Given the description of an element on the screen output the (x, y) to click on. 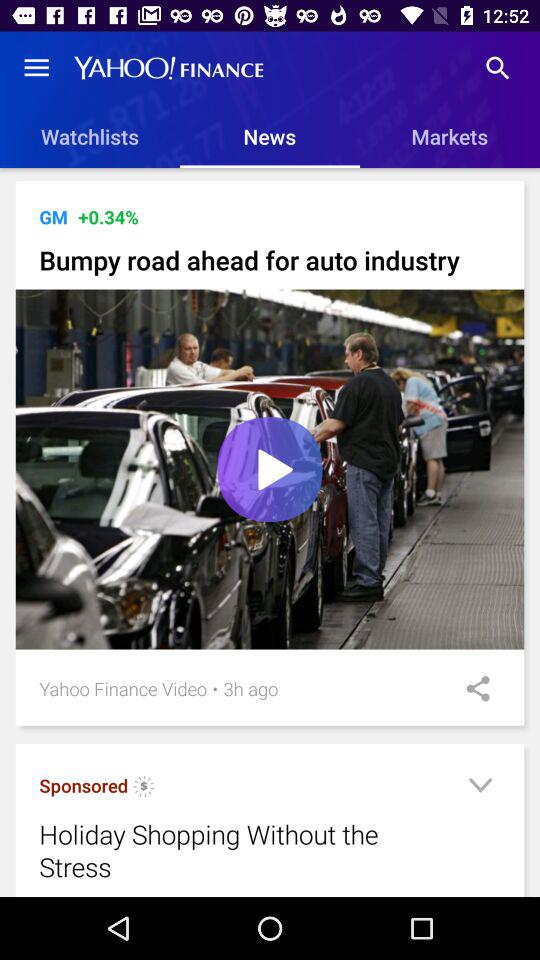
swipe until +0.34% (108, 216)
